Given the description of an element on the screen output the (x, y) to click on. 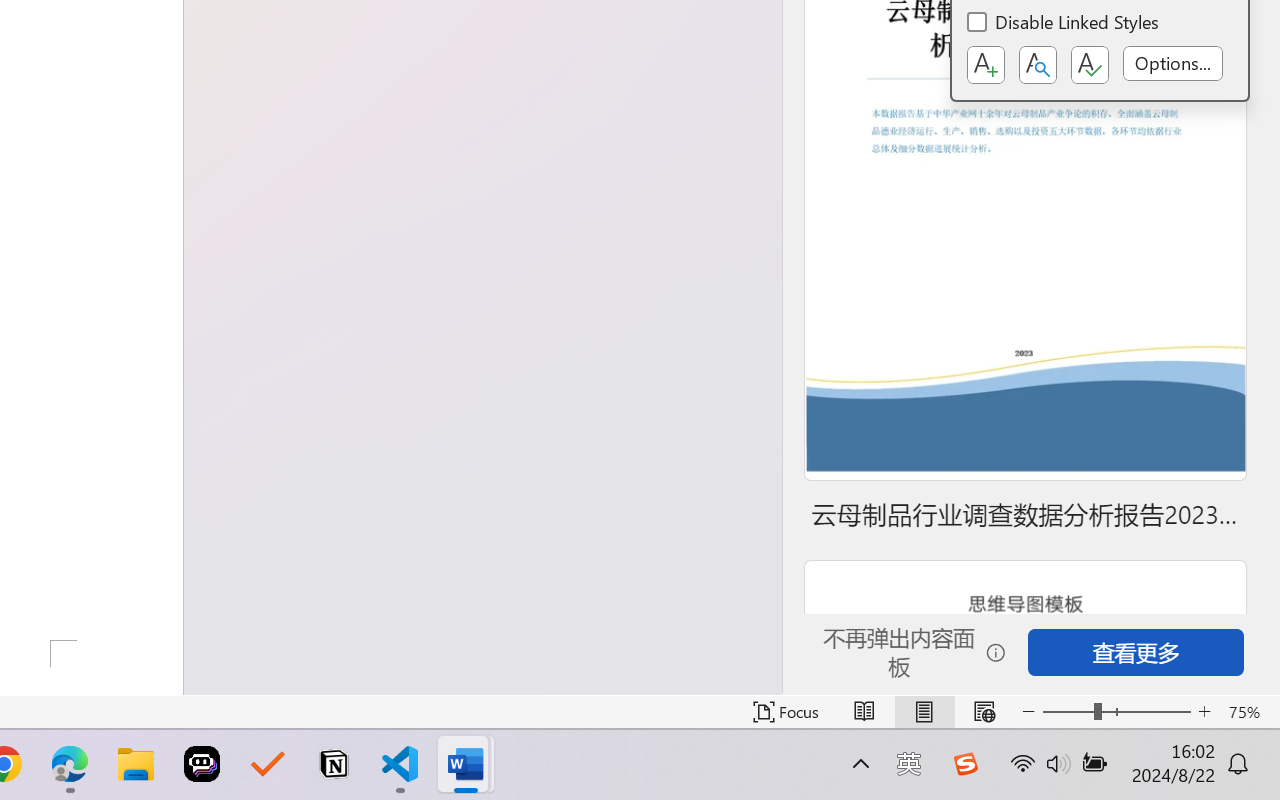
Read Mode (864, 712)
Zoom In (1204, 712)
Class: Image (965, 764)
Zoom (1116, 712)
Disable Linked Styles (1064, 24)
Print Layout (924, 712)
Focus  (786, 712)
Class: NetUIButton (1089, 65)
Zoom Out (1067, 712)
Web Layout (984, 712)
Options... (1172, 63)
